Given the description of an element on the screen output the (x, y) to click on. 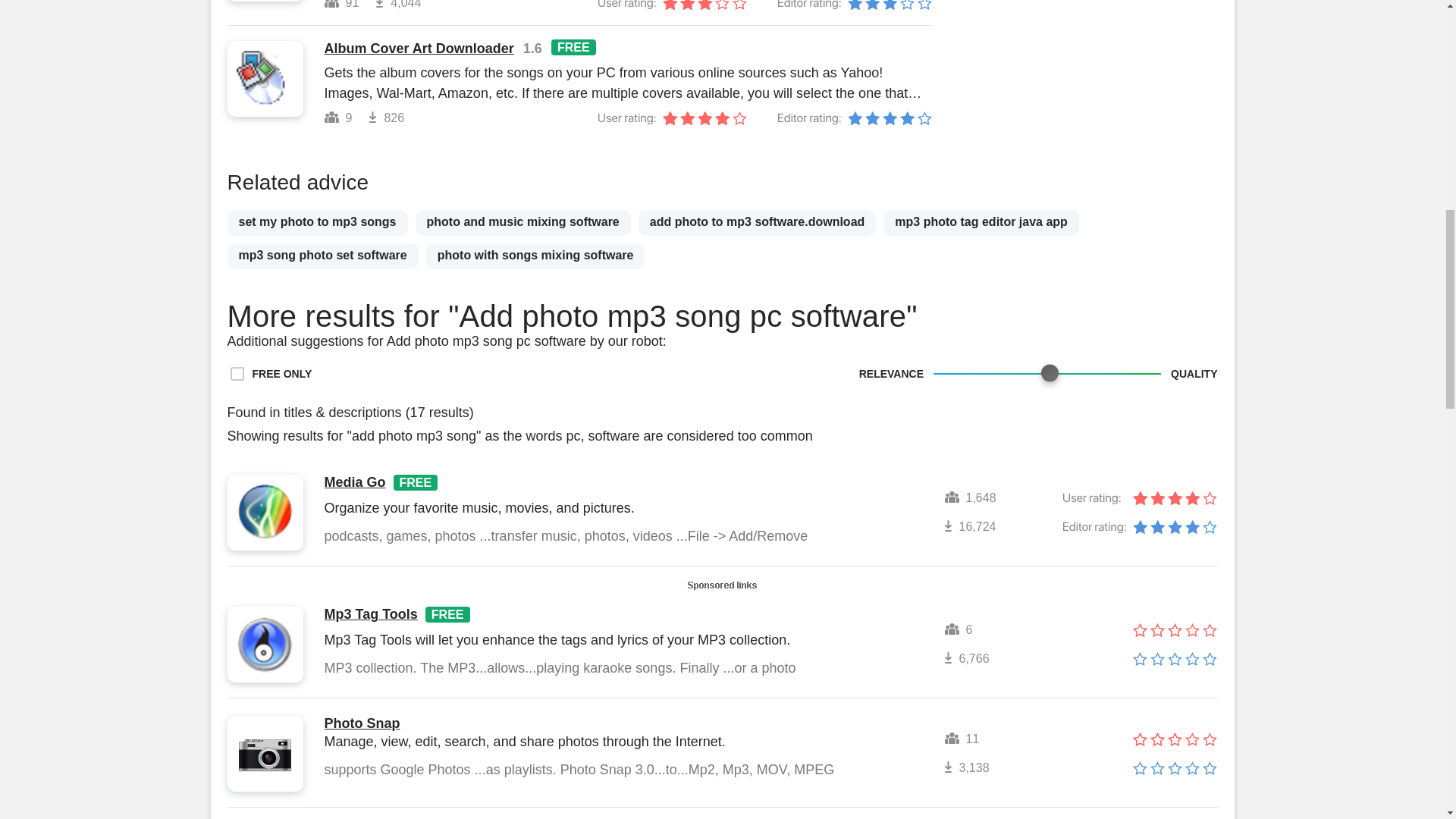
mp3 song photo set software (323, 256)
set my photo to mp3 songs (317, 222)
Album Cover Art Downloader (418, 48)
photo and music mixing software (522, 222)
Mp3 Tag Tools (370, 614)
Photo Snap (362, 723)
Media Go (354, 482)
Album Cover Art Downloader (418, 48)
Mp3 Tag Tools (370, 614)
Photo Snap (362, 723)
on (237, 373)
add photo to mp3 software.download (757, 222)
photo with songs mixing software (535, 256)
mp3 photo tag editor java app (980, 222)
Media Go (354, 482)
